Given the description of an element on the screen output the (x, y) to click on. 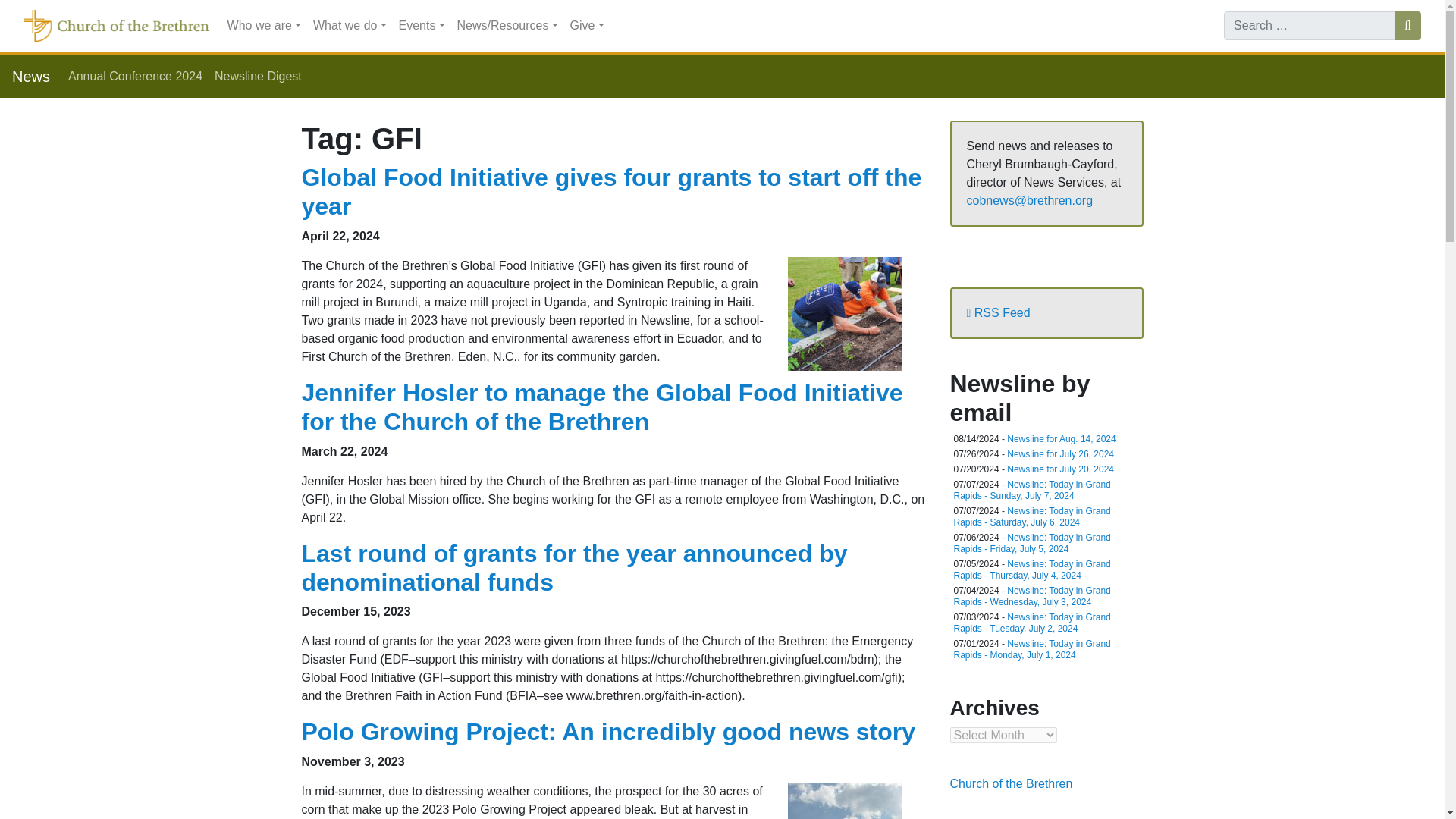
Who we are (264, 25)
What we do (350, 25)
Who we are (264, 25)
What we do (350, 25)
Events (422, 25)
